Given the description of an element on the screen output the (x, y) to click on. 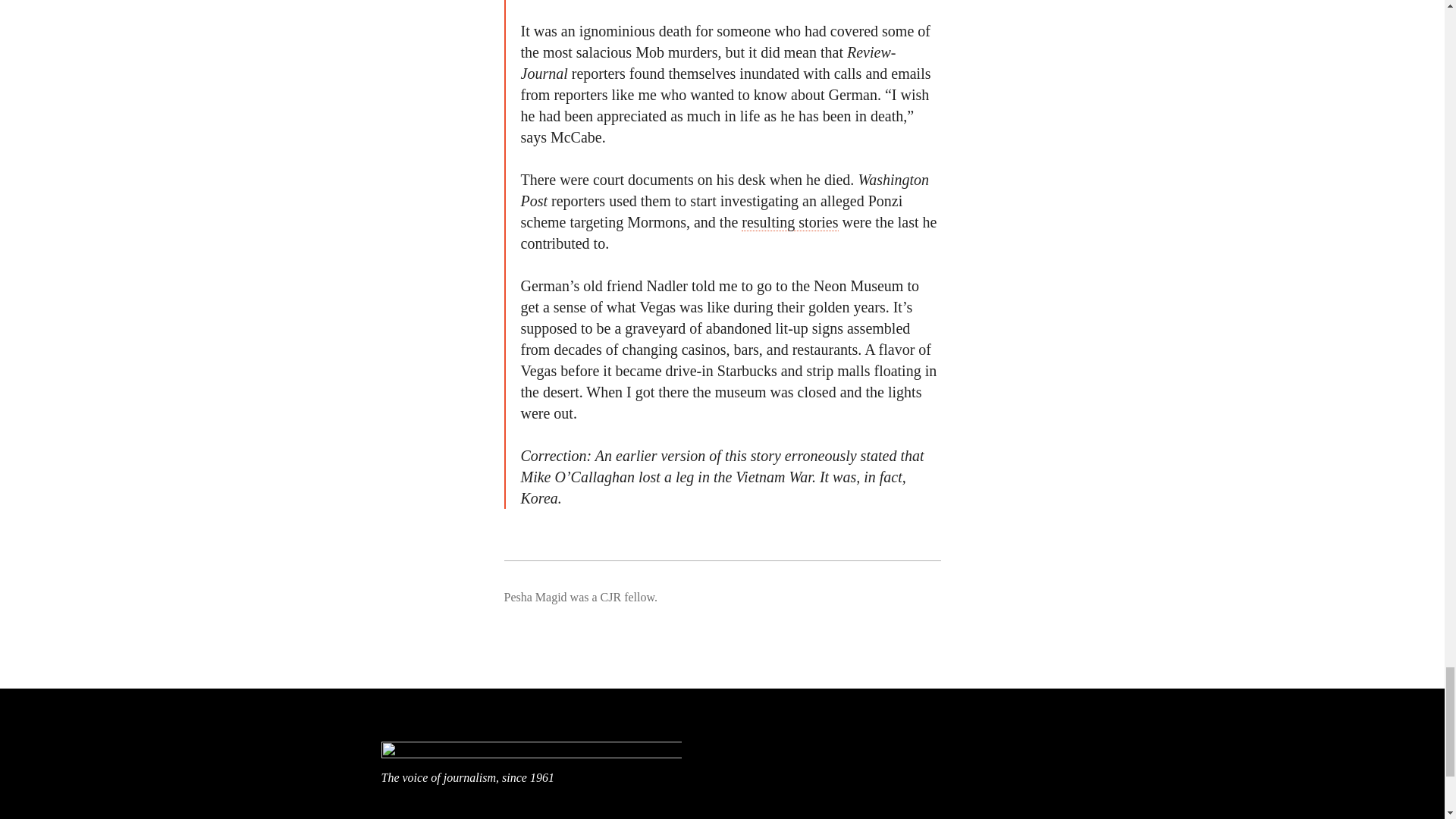
resulting stories (789, 221)
